Given the description of an element on the screen output the (x, y) to click on. 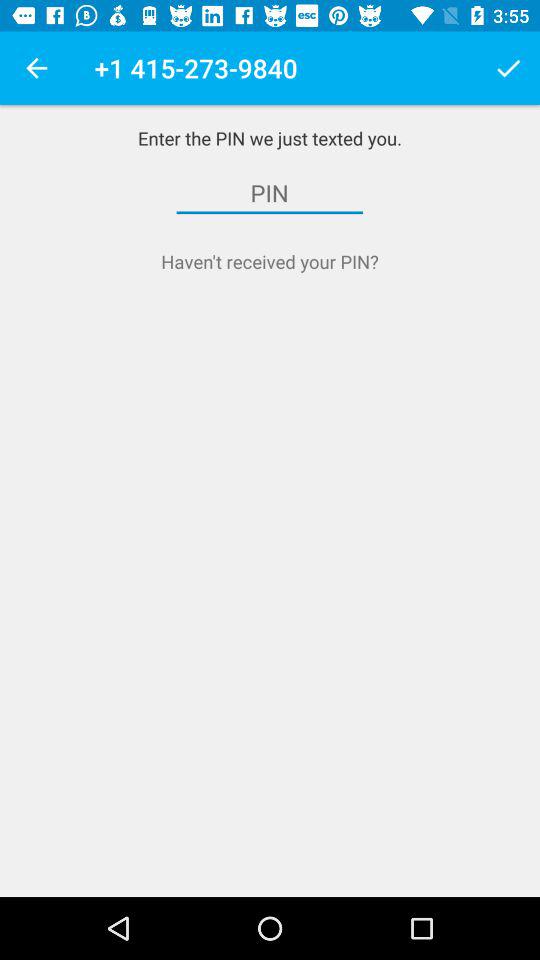
choose item above the enter the pin (508, 67)
